Given the description of an element on the screen output the (x, y) to click on. 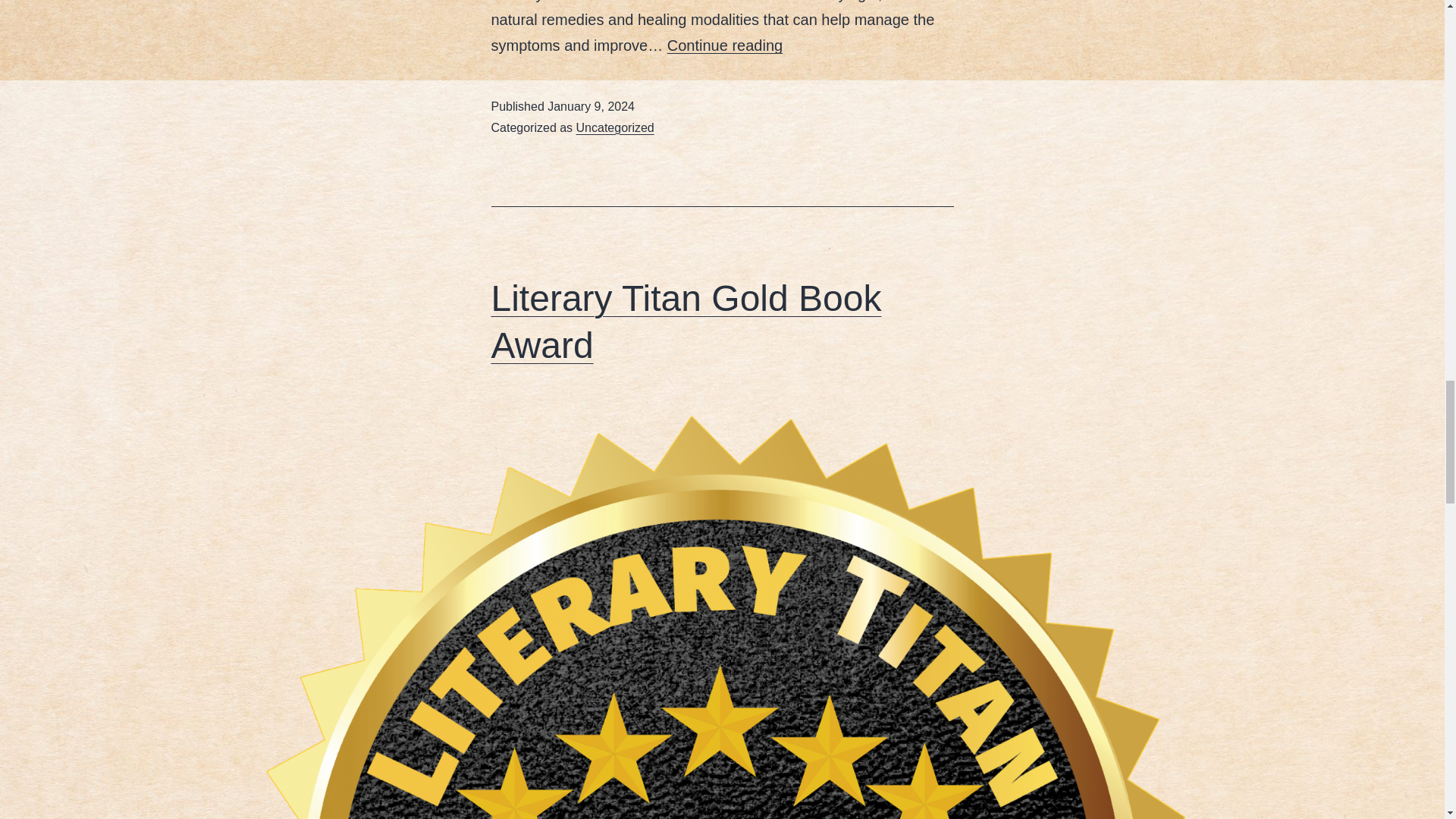
Uncategorized (614, 127)
Literary Titan Gold Book Award (687, 321)
